Given the description of an element on the screen output the (x, y) to click on. 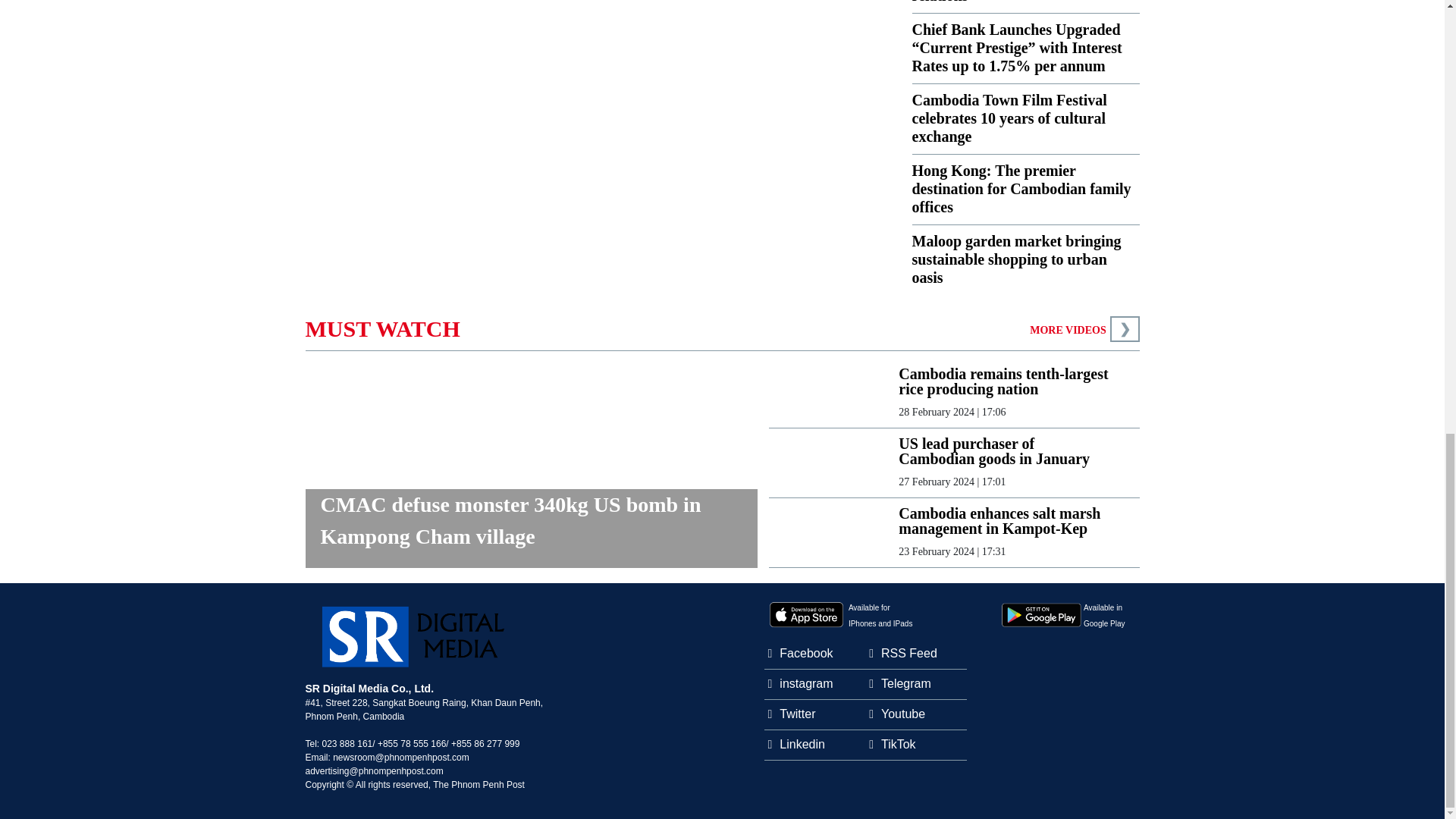
MORE VIDEOS (1067, 329)
